Given the description of an element on the screen output the (x, y) to click on. 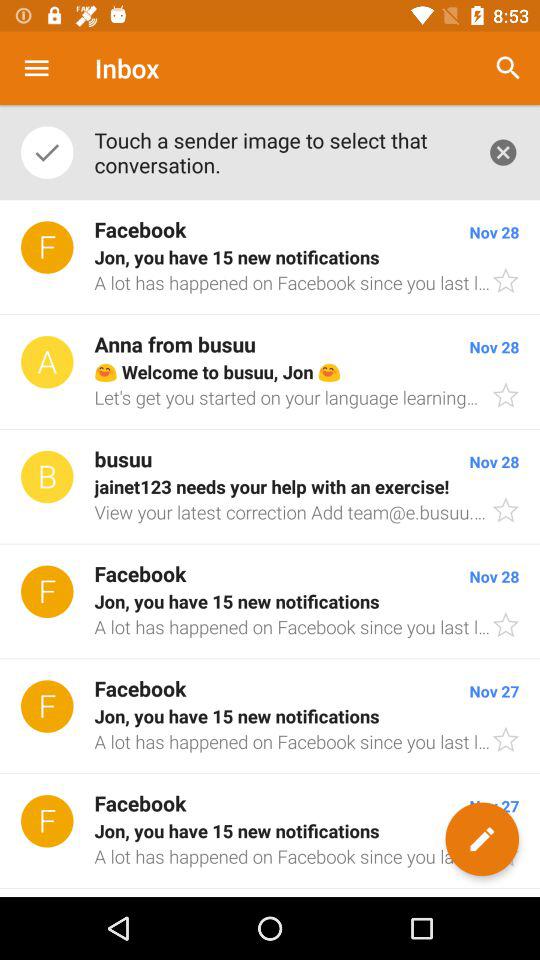
swipe until the touch a sender icon (280, 152)
